Given the description of an element on the screen output the (x, y) to click on. 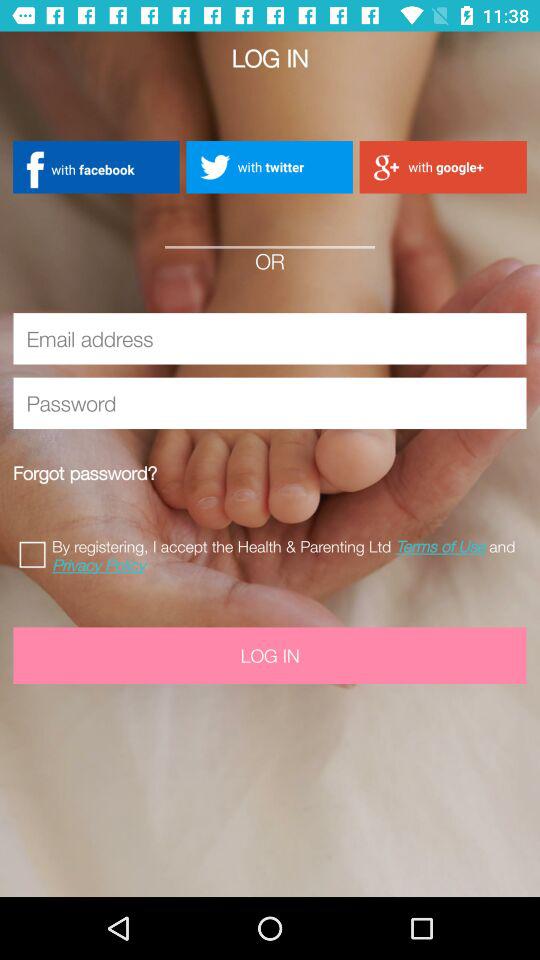
check box agree (36, 552)
